Given the description of an element on the screen output the (x, y) to click on. 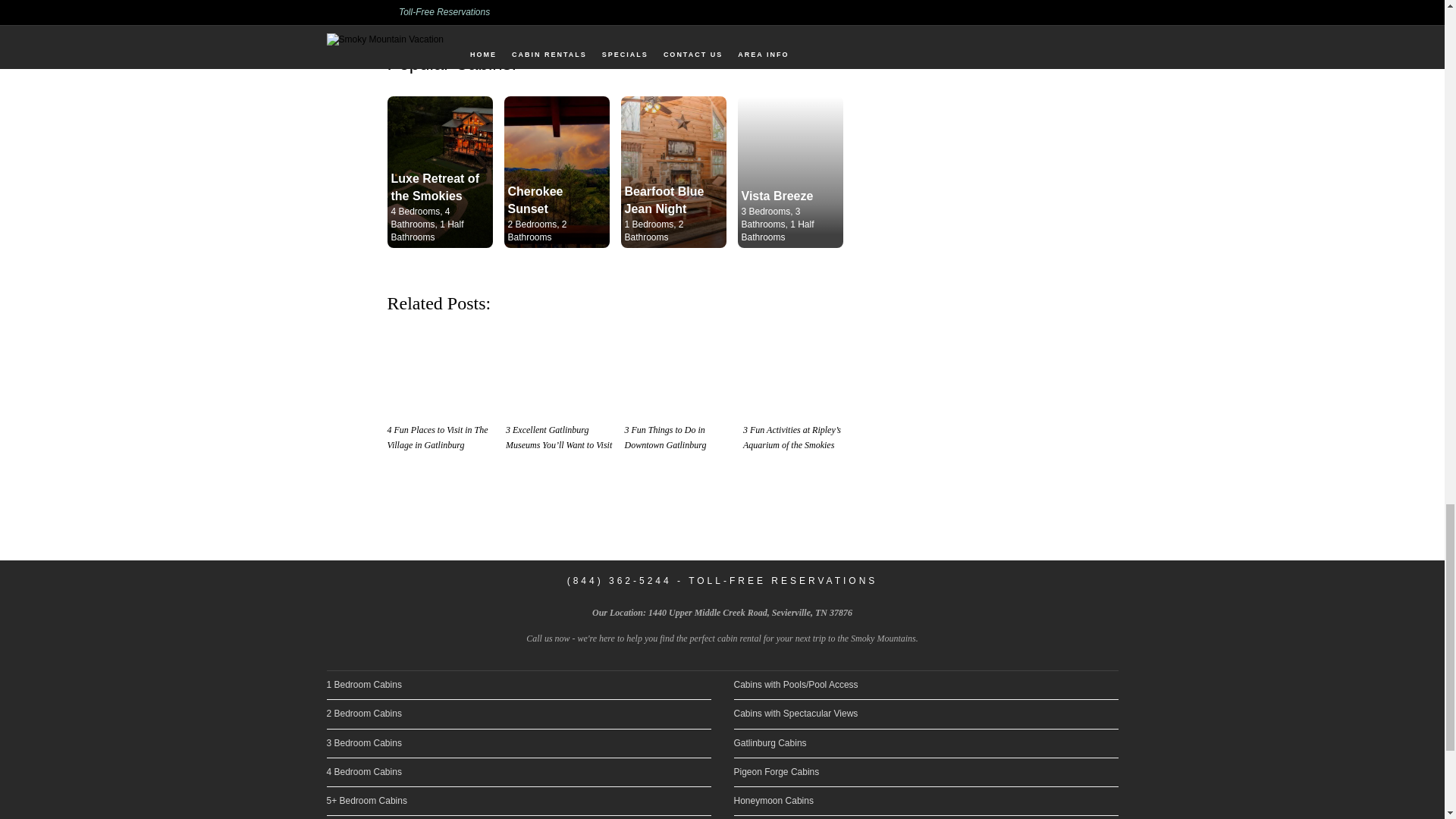
Ripley (798, 371)
the village shops entrance with sign in gatlinburg tennessee (442, 371)
cabins in the Smoky Mountains (615, 6)
Gatlinburg Space Needle (680, 371)
3 Fun Things to Do in Downtown Gatlinburg (680, 370)
4 Fun Places to Visit in The Village in Gatlinburg (437, 437)
4 Fun Places to Visit in The Village in Gatlinburg (442, 370)
salt and pepper shaker museum (561, 371)
